Given the description of an element on the screen output the (x, y) to click on. 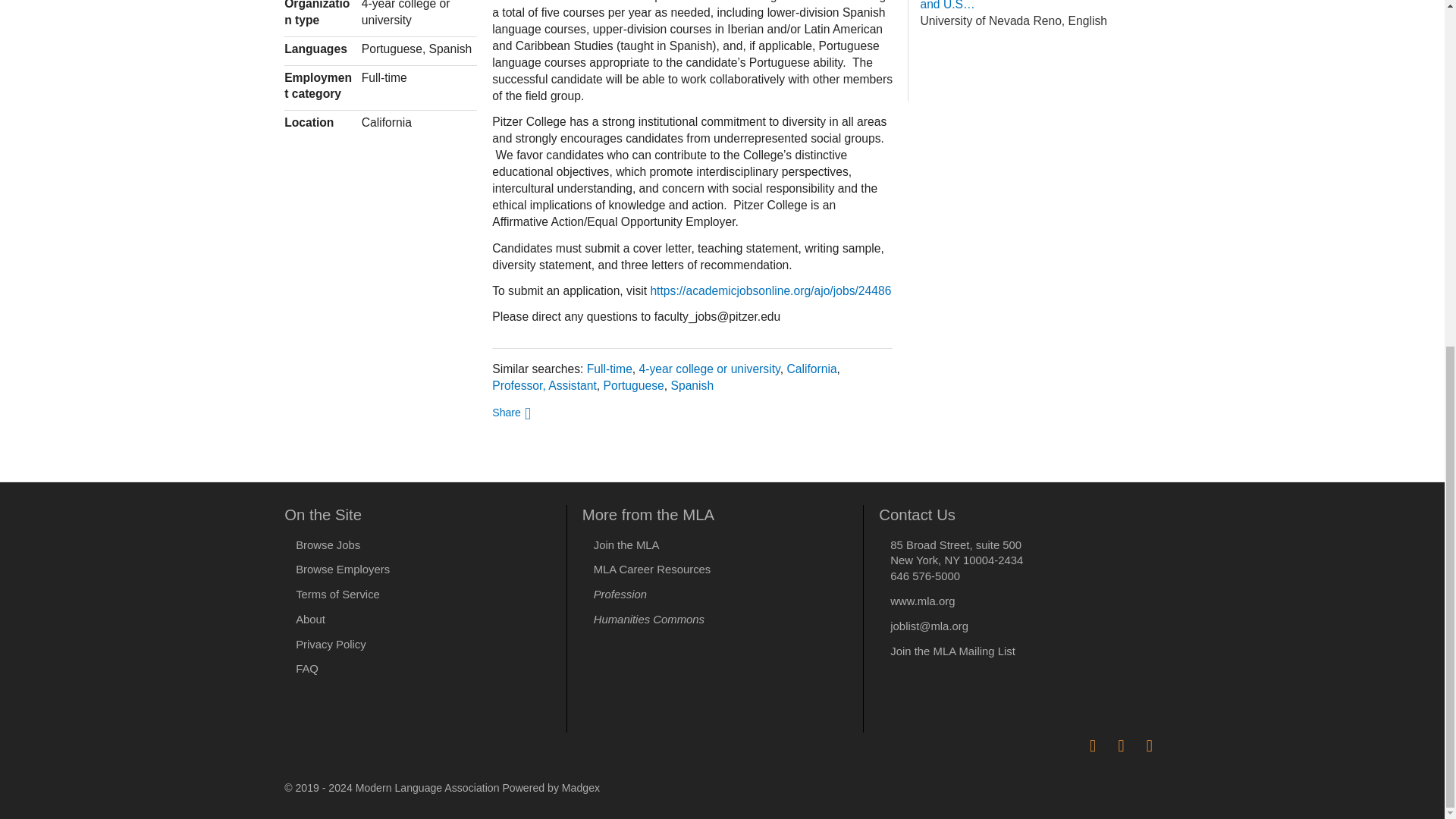
Spanish (691, 385)
Full-time (608, 368)
4-year college or university (709, 368)
FAQ (306, 668)
Terms of Service (337, 594)
Browse Jobs (327, 544)
Share (511, 411)
California (810, 368)
Privacy Policy (330, 644)
Browse Employers (342, 569)
Professor, Assistant (544, 385)
Portuguese (633, 385)
About (309, 619)
